Given the description of an element on the screen output the (x, y) to click on. 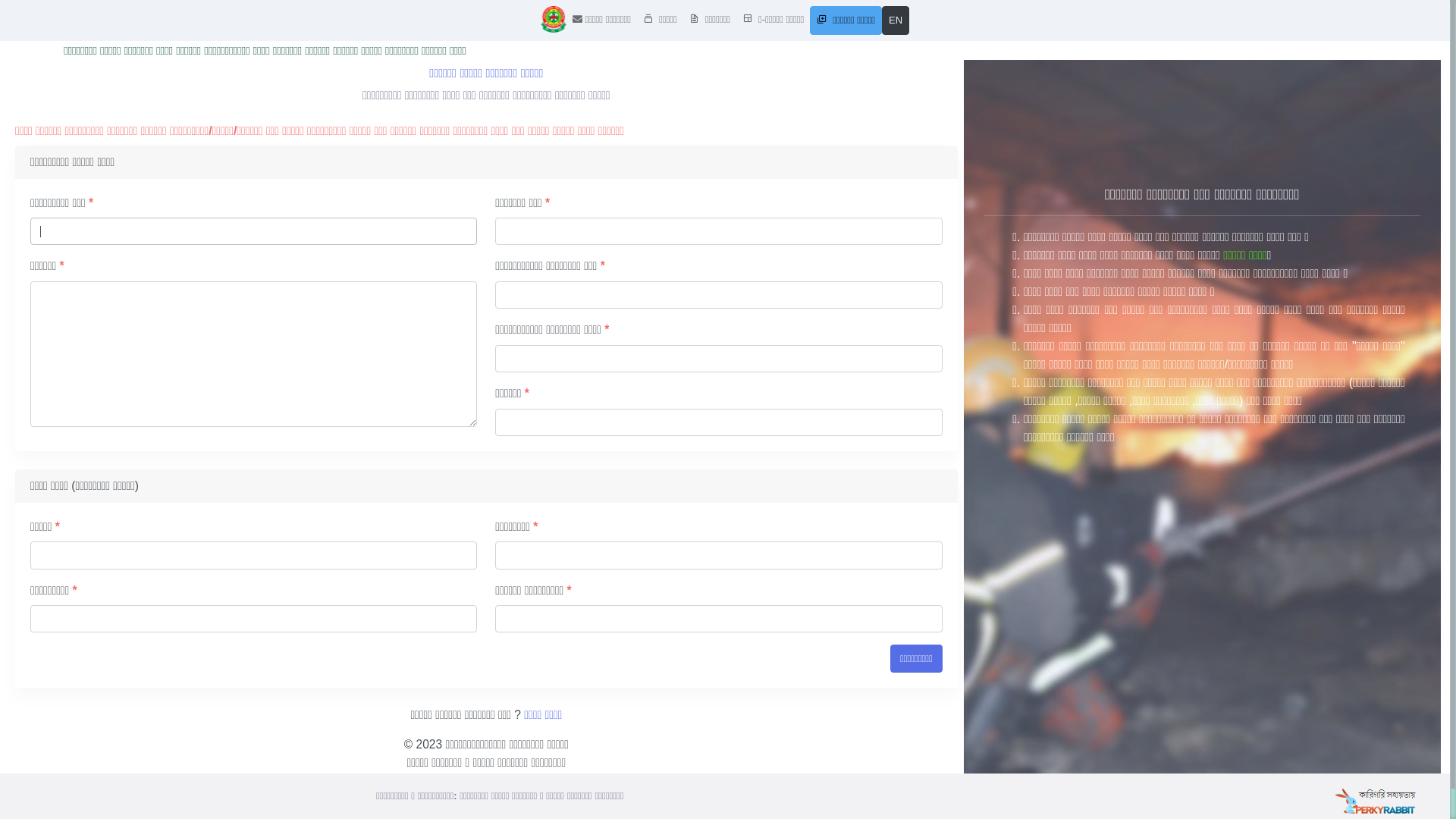
EN Element type: text (895, 20)
